Given the description of an element on the screen output the (x, y) to click on. 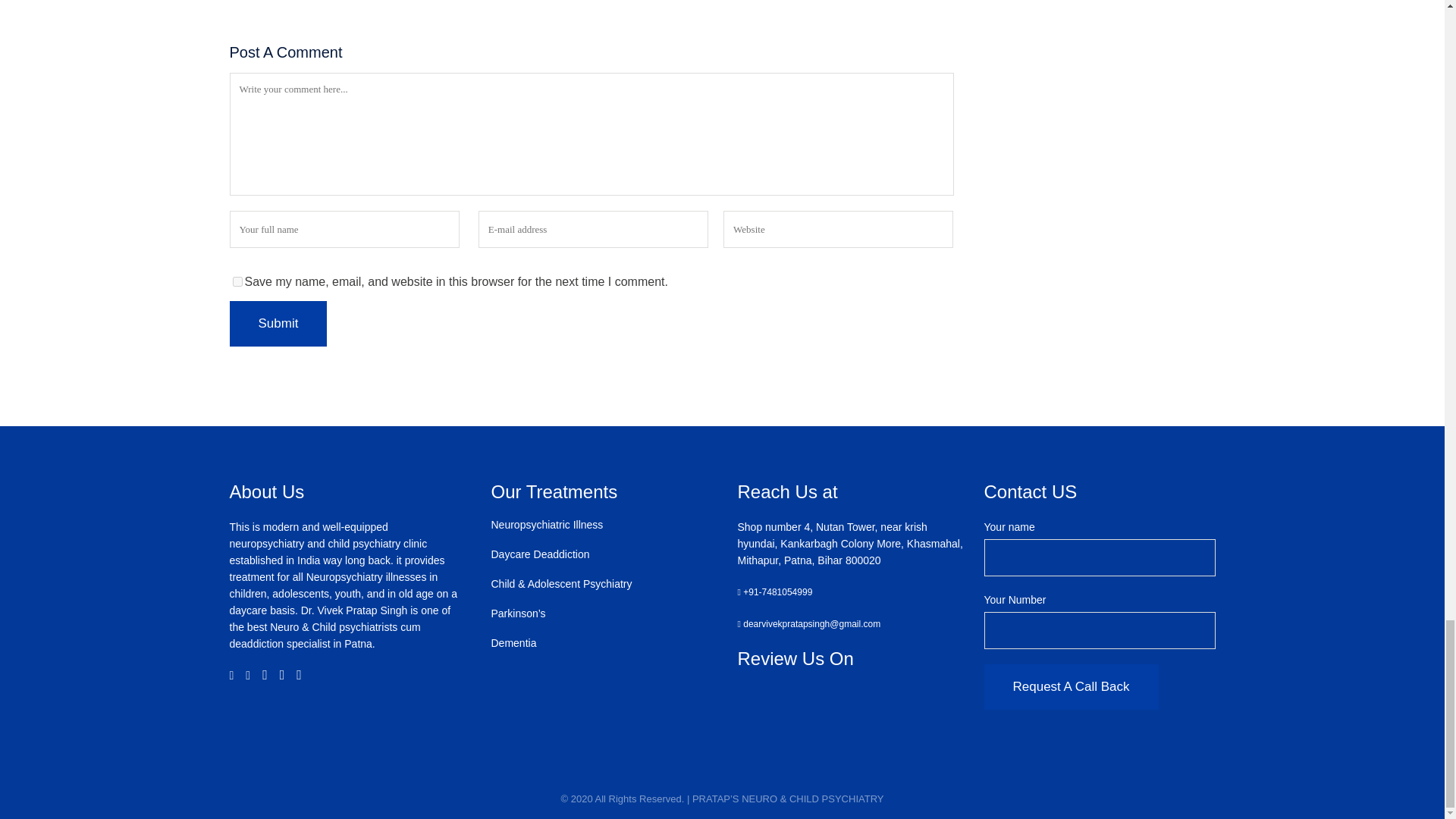
Submit (277, 323)
Request a Call Back (1071, 687)
yes (236, 281)
